Given the description of an element on the screen output the (x, y) to click on. 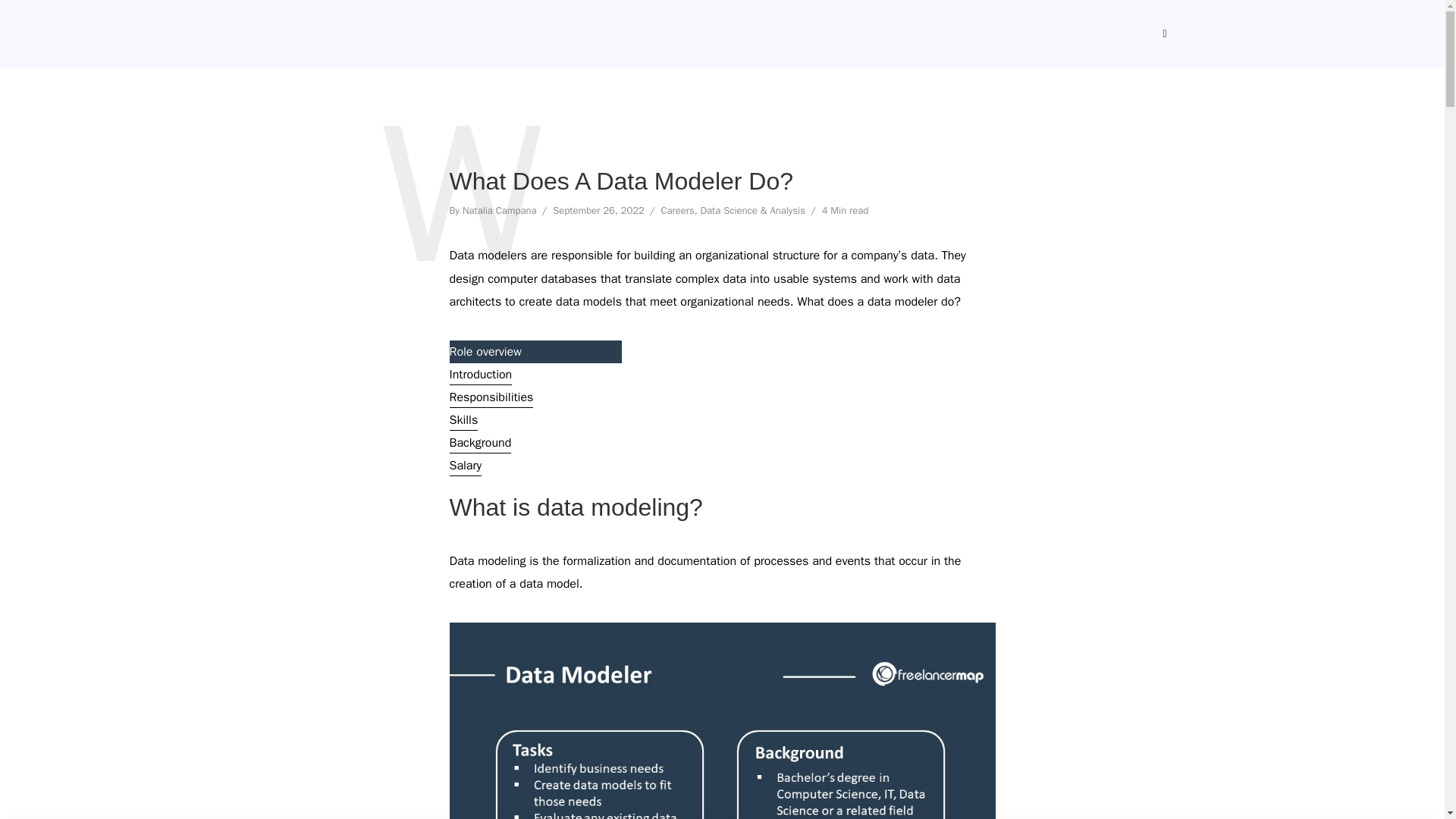
Responsibilities (490, 398)
Background (479, 443)
Salary (464, 466)
Careers (677, 211)
Natalia Campana (500, 211)
Skills (462, 421)
Introduction (480, 375)
